Given the description of an element on the screen output the (x, y) to click on. 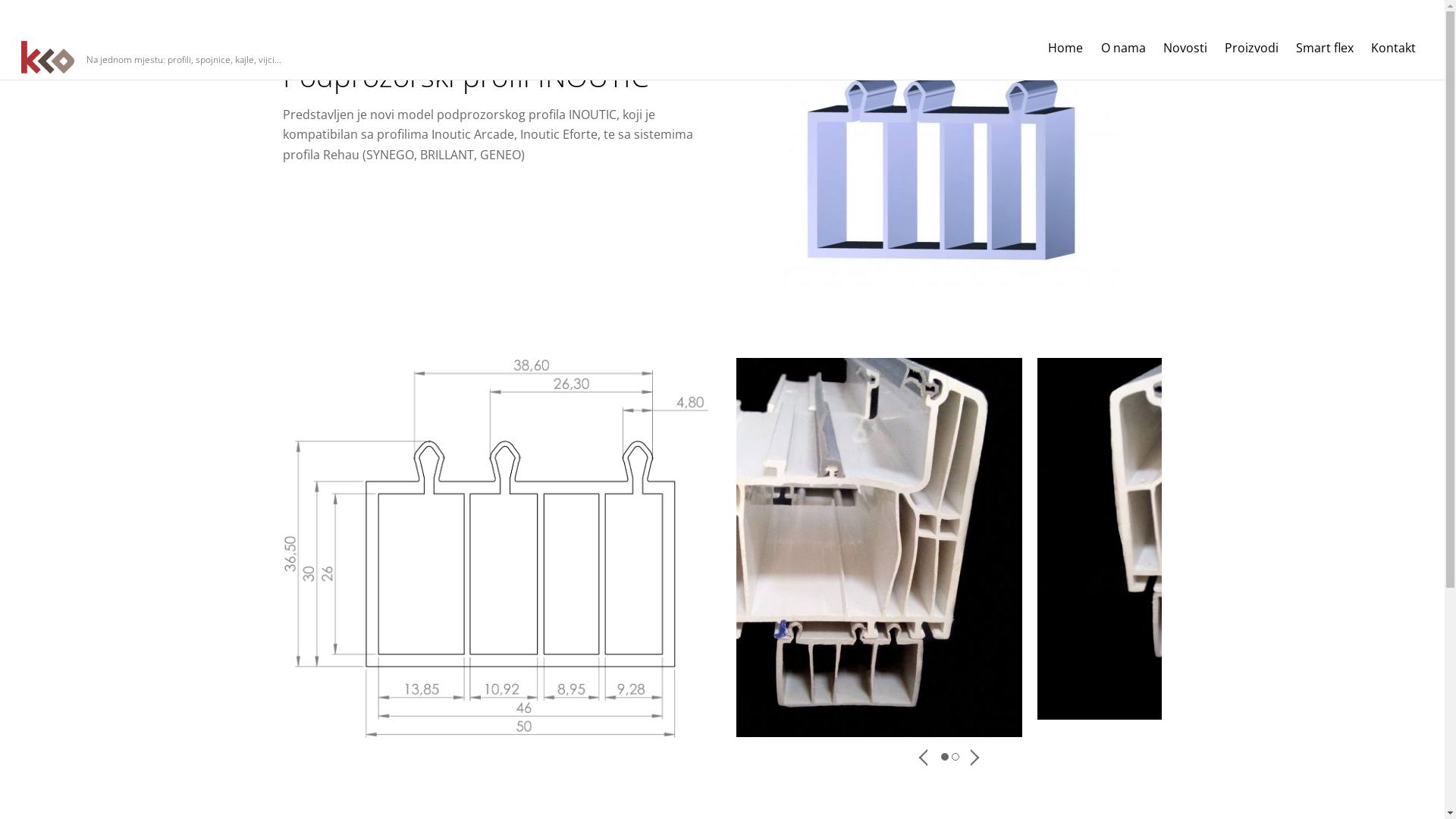
Smart flex Element type: text (1325, 48)
O nama Element type: text (1122, 48)
KCO - Sve za izradu PVC i AL stolarije Element type: hover (47, 65)
Proizvodi Element type: text (1251, 48)
KCO - Sve za izradu PVC i AL stolarije Element type: hover (47, 56)
Home Element type: text (1065, 48)
Kontakt Element type: text (1393, 48)
Novosti Element type: text (1184, 48)
